Given the description of an element on the screen output the (x, y) to click on. 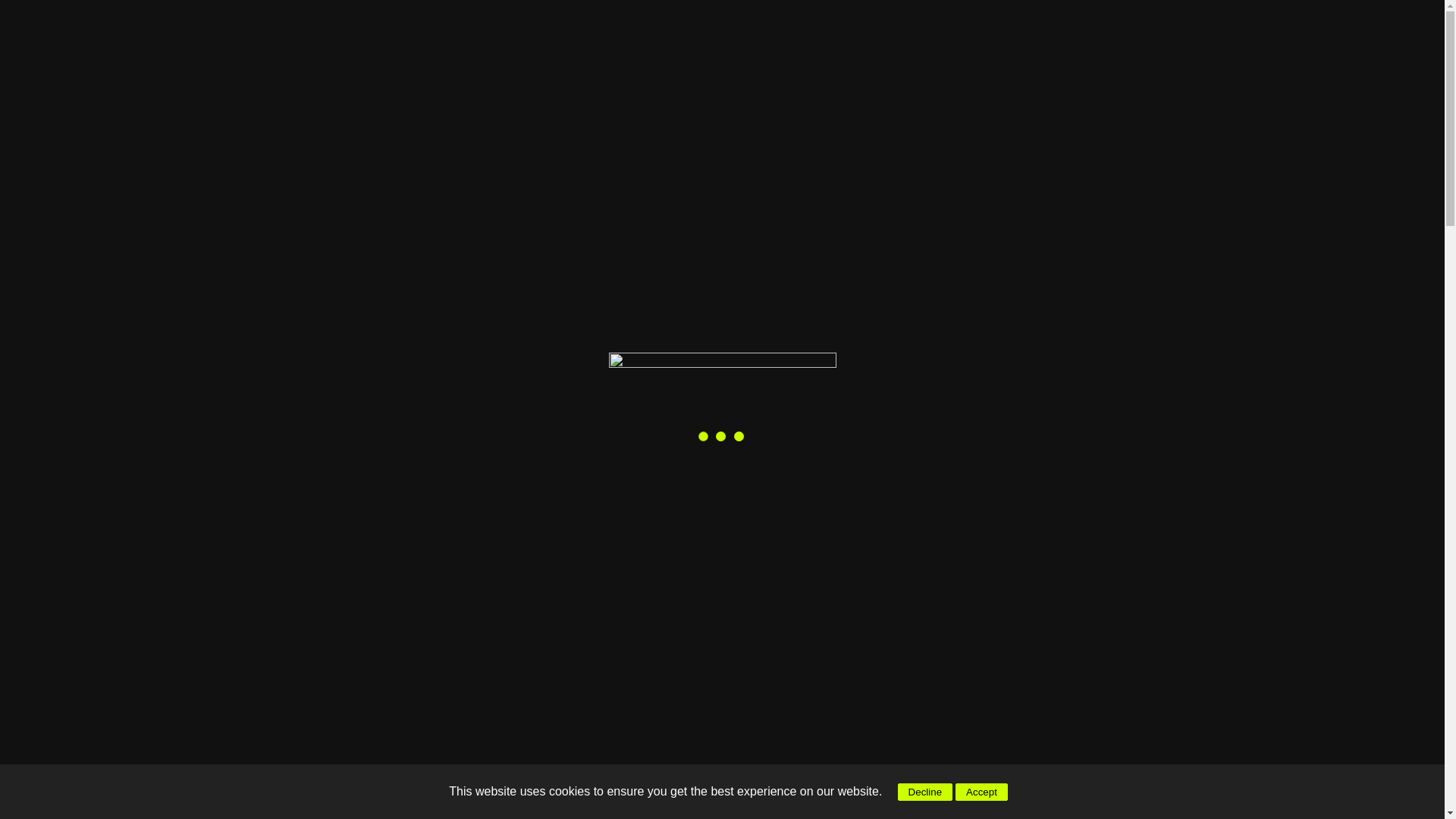
1 (365, 141)
Shop Now (850, 16)
RANCHER 1 (339, 140)
1 (478, 141)
PIONEER 1 (669, 140)
RUBICON 1 (560, 140)
Mud Tires (697, 613)
FOREMAN 1 (447, 140)
1 (1129, 482)
1 (791, 141)
Accept (981, 791)
1 (589, 141)
1 (698, 141)
Decline (925, 791)
Sign in (1209, 75)
